Given the description of an element on the screen output the (x, y) to click on. 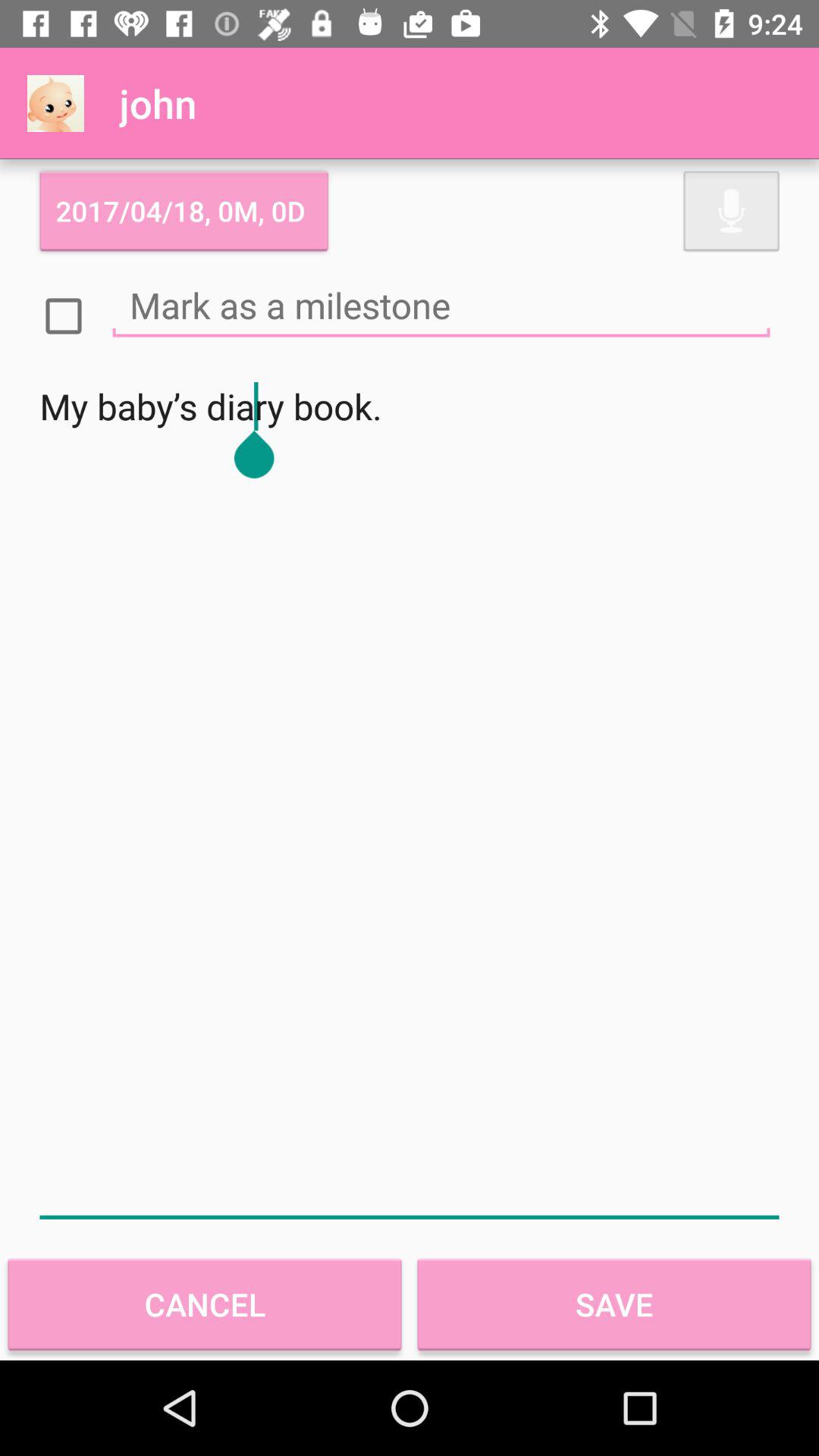
use microphone (731, 210)
